Given the description of an element on the screen output the (x, y) to click on. 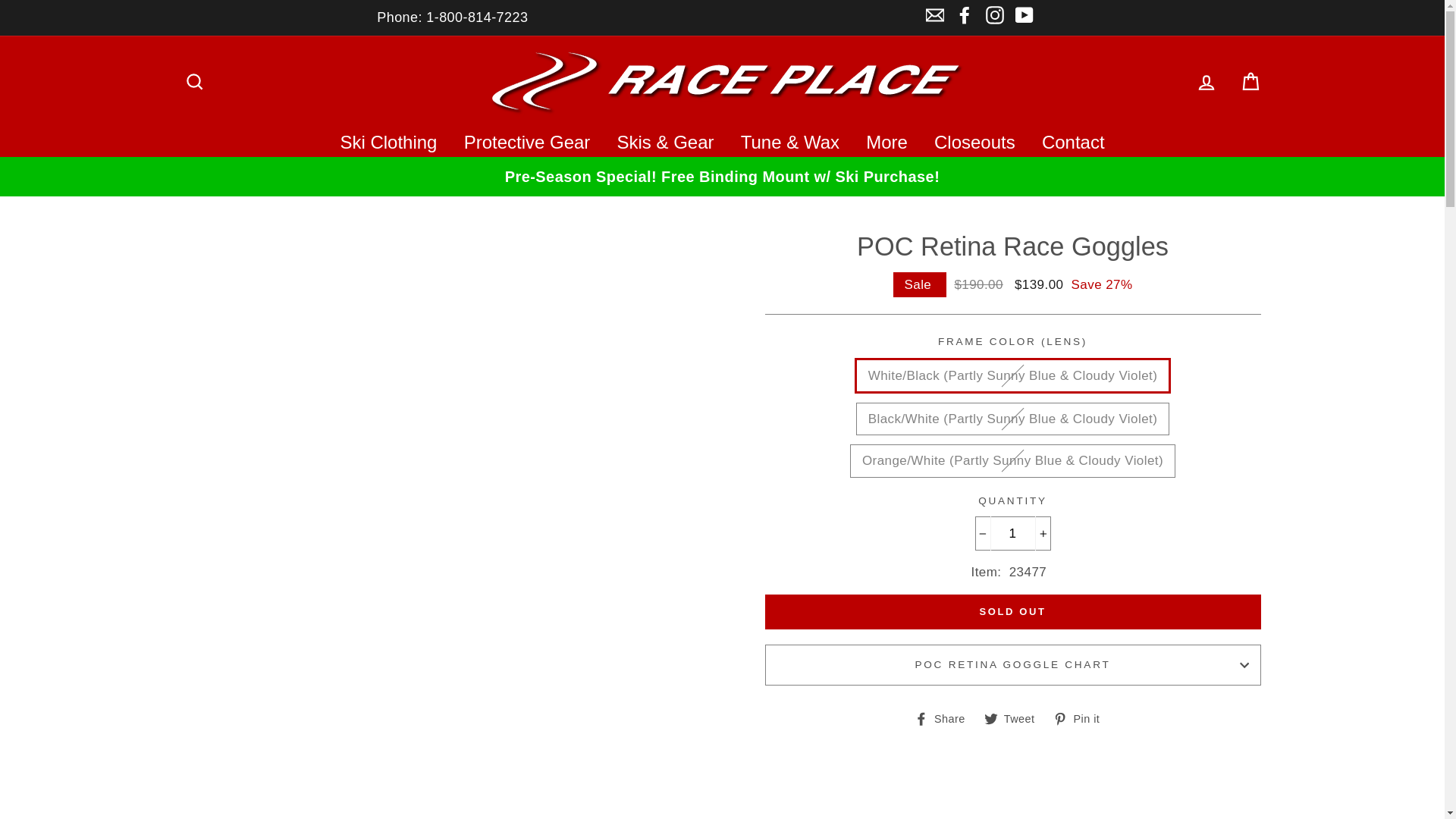
Pin on Pinterest (1081, 718)
Share on Facebook (945, 718)
Tweet on Twitter (1015, 718)
1 (1013, 533)
Back to the frontpage (199, 189)
